Given the description of an element on the screen output the (x, y) to click on. 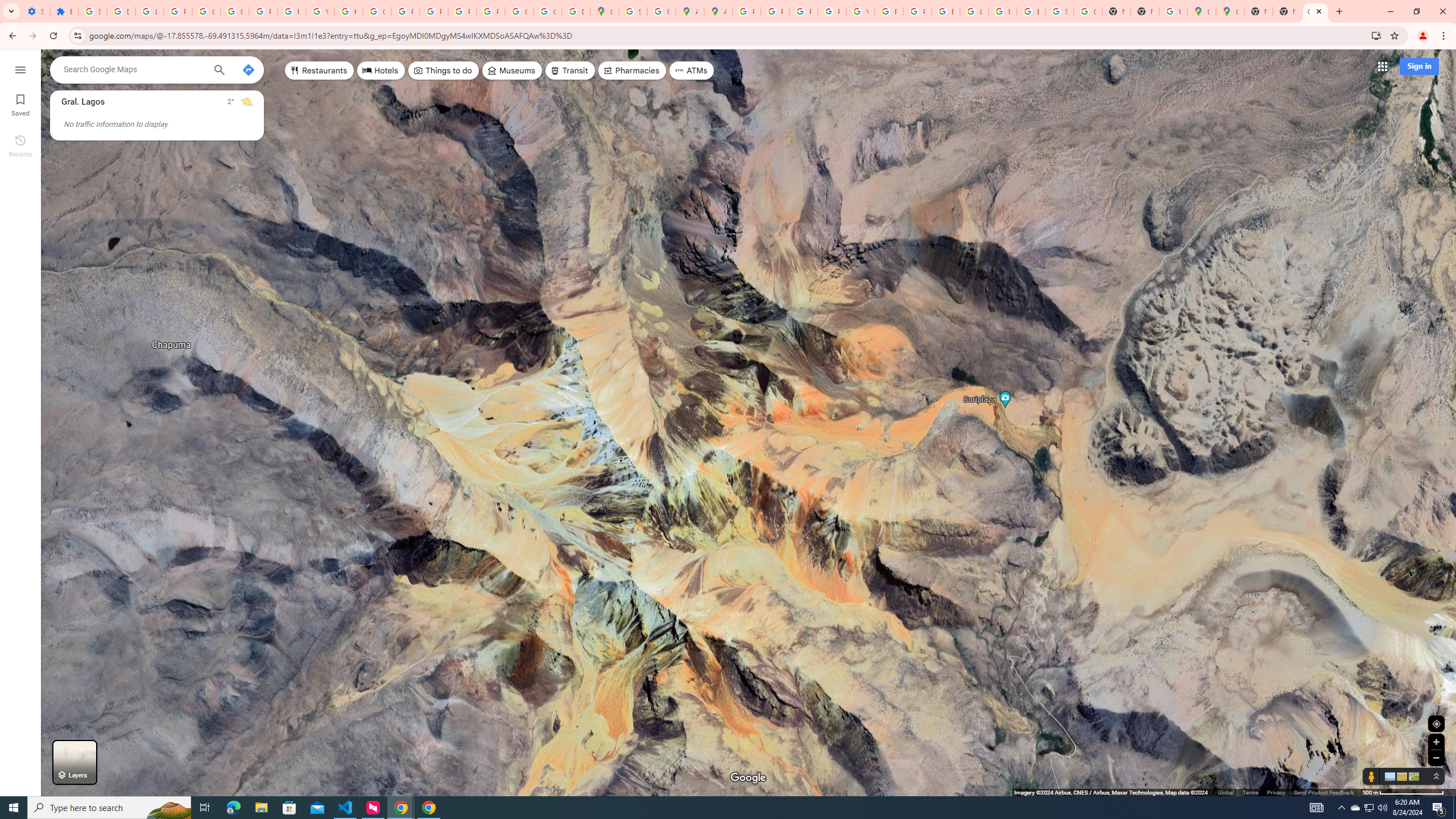
Layers (74, 762)
Sign in - Google Accounts (92, 11)
Privacy Help Center - Policies Help (803, 11)
Install Google Maps (1376, 35)
Google Maps (1315, 11)
Saved (20, 104)
ATMs (691, 70)
Google Maps (1230, 11)
